Given the description of an element on the screen output the (x, y) to click on. 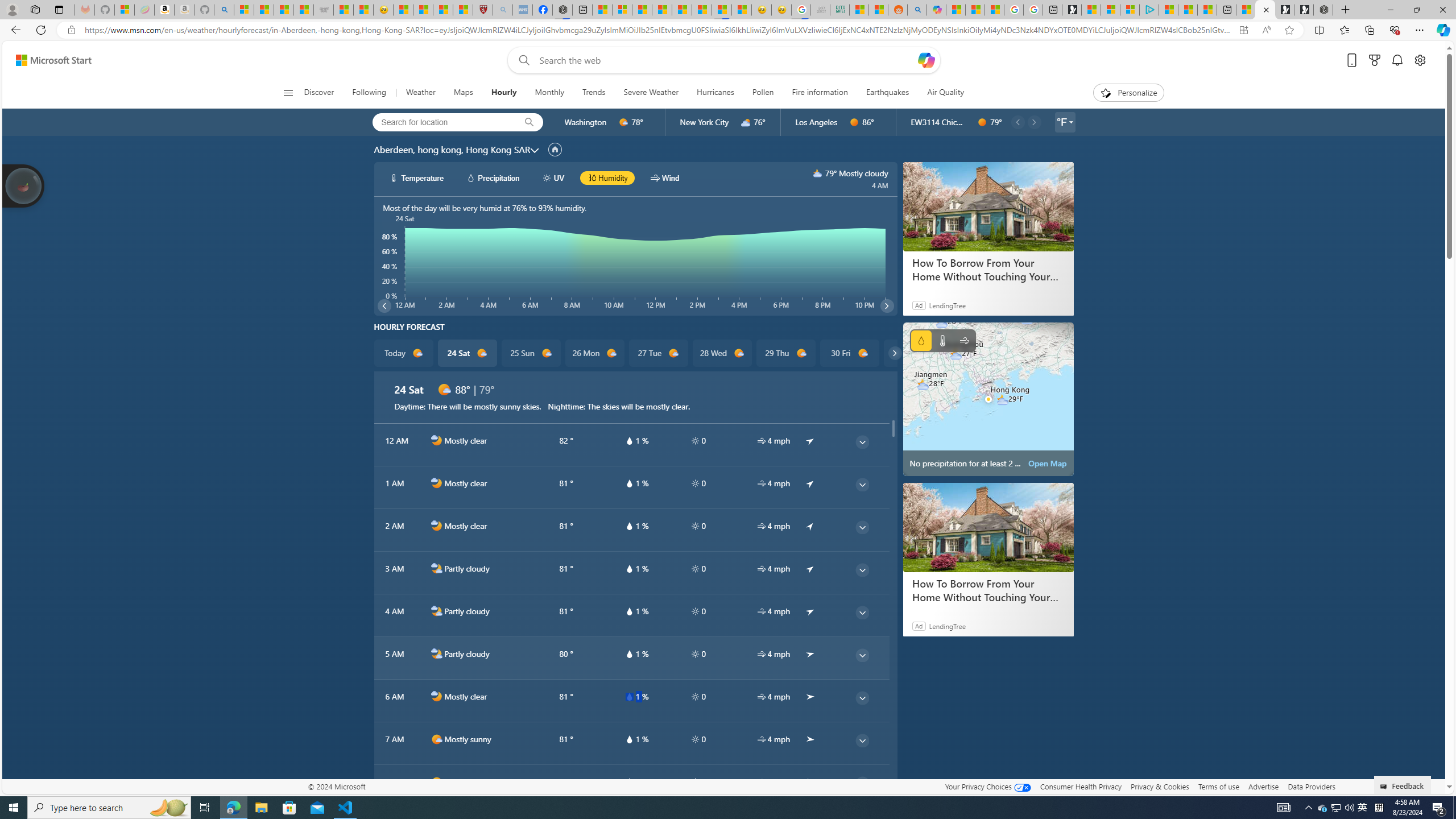
26 Mon d1000 (594, 352)
Air Quality (945, 92)
Open Map (1047, 463)
n3000 (817, 172)
hourlyChart/precipitationWhite (470, 177)
